Given the description of an element on the screen output the (x, y) to click on. 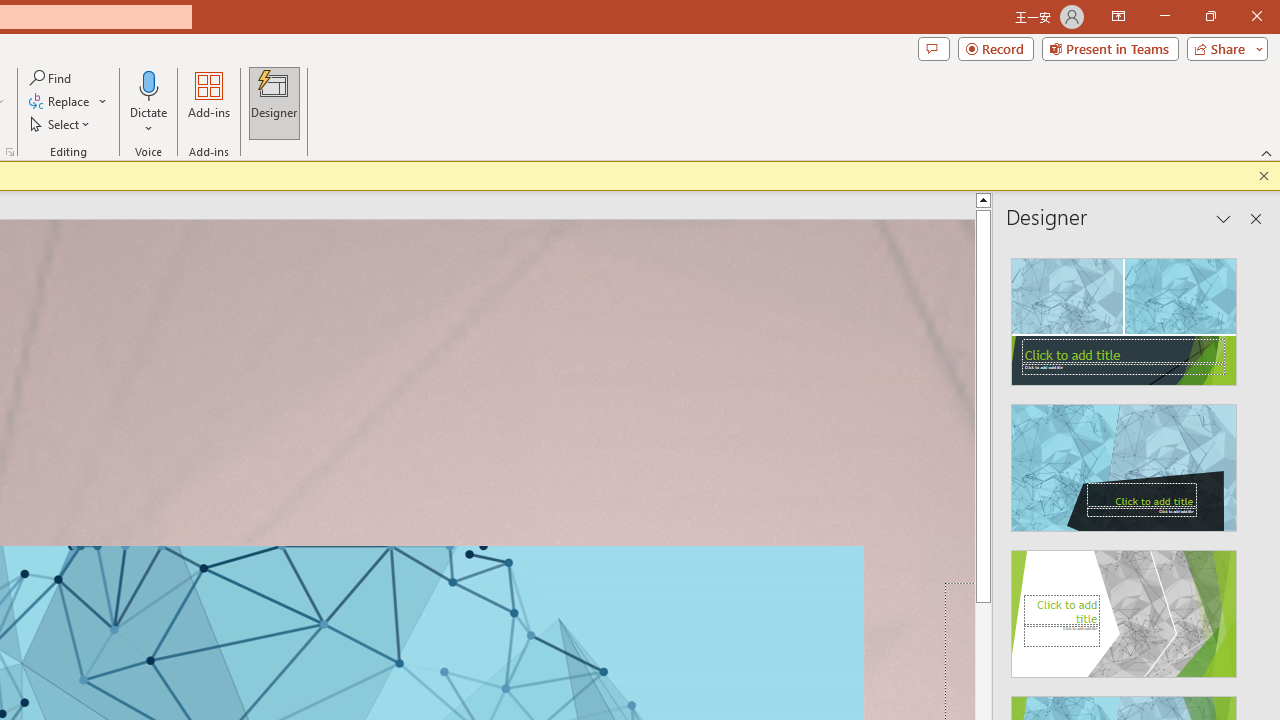
Close this message (1263, 176)
